Given the description of an element on the screen output the (x, y) to click on. 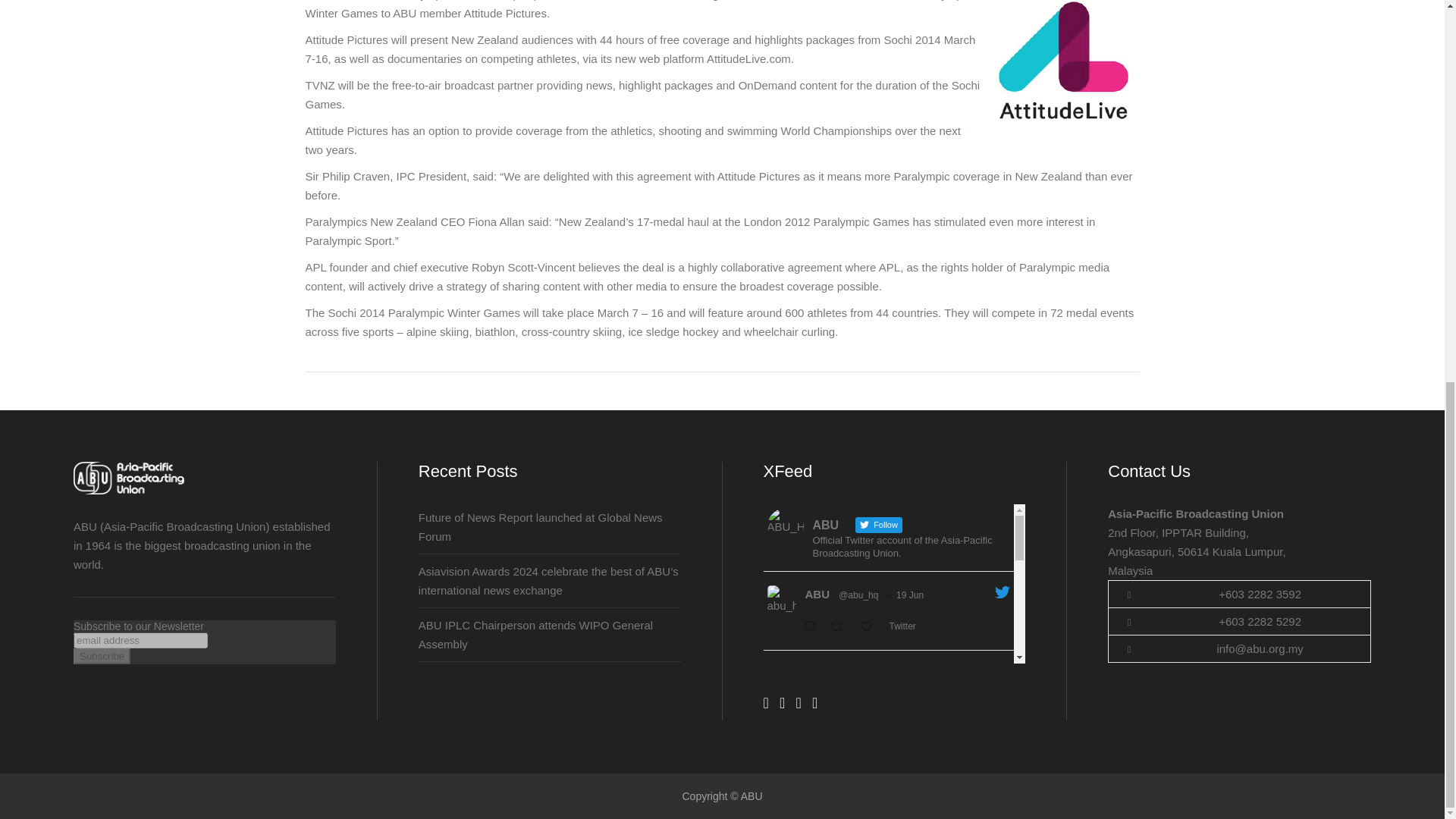
Subscribe (102, 656)
